Given the description of an element on the screen output the (x, y) to click on. 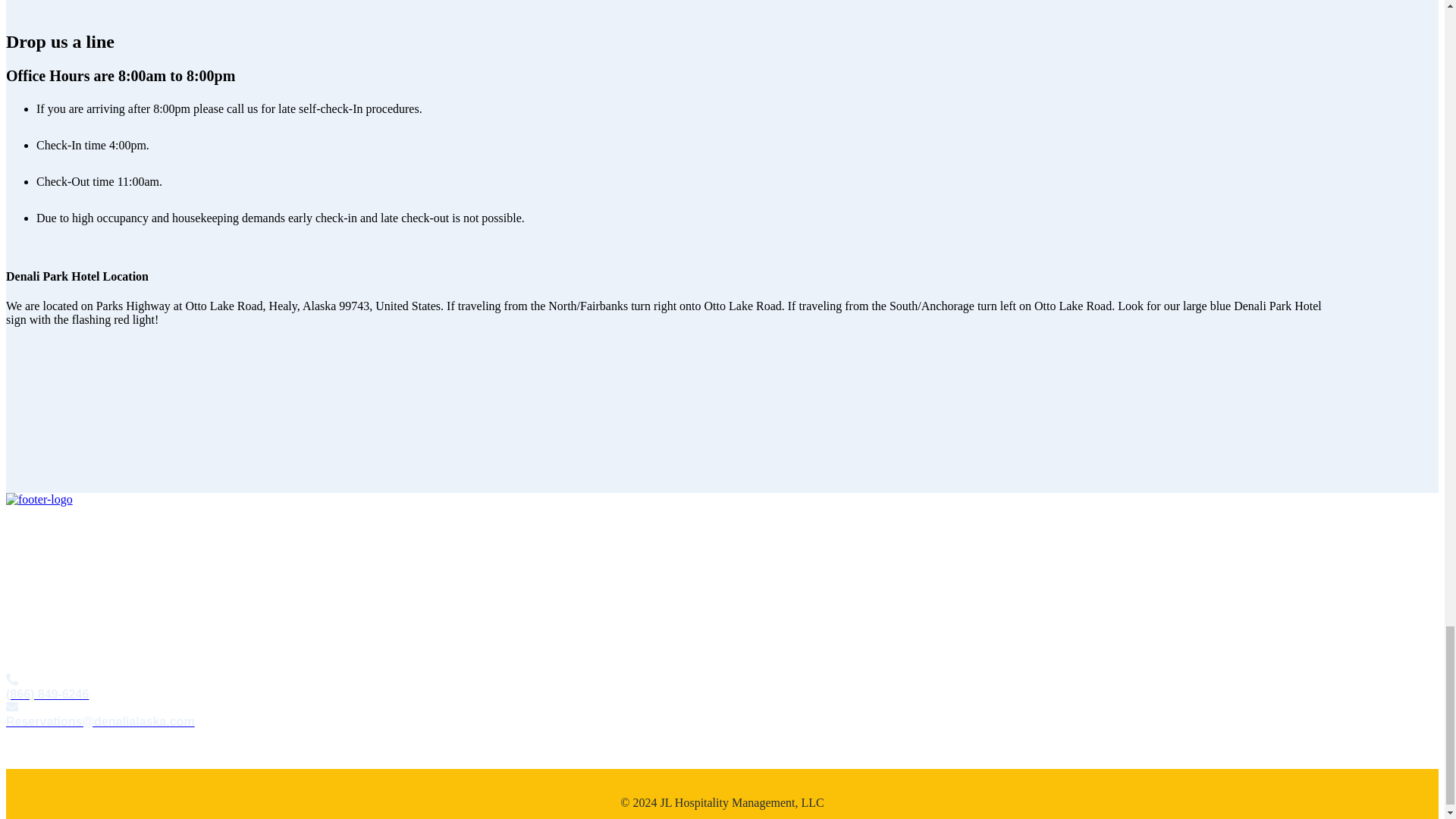
Policies (25, 550)
Denali Park Hotel Rooms (68, 524)
Reservations (36, 576)
Directions (30, 627)
Privacy Policy (41, 748)
footer-logo (38, 499)
Activities (28, 602)
Contact Us (33, 653)
